Given the description of an element on the screen output the (x, y) to click on. 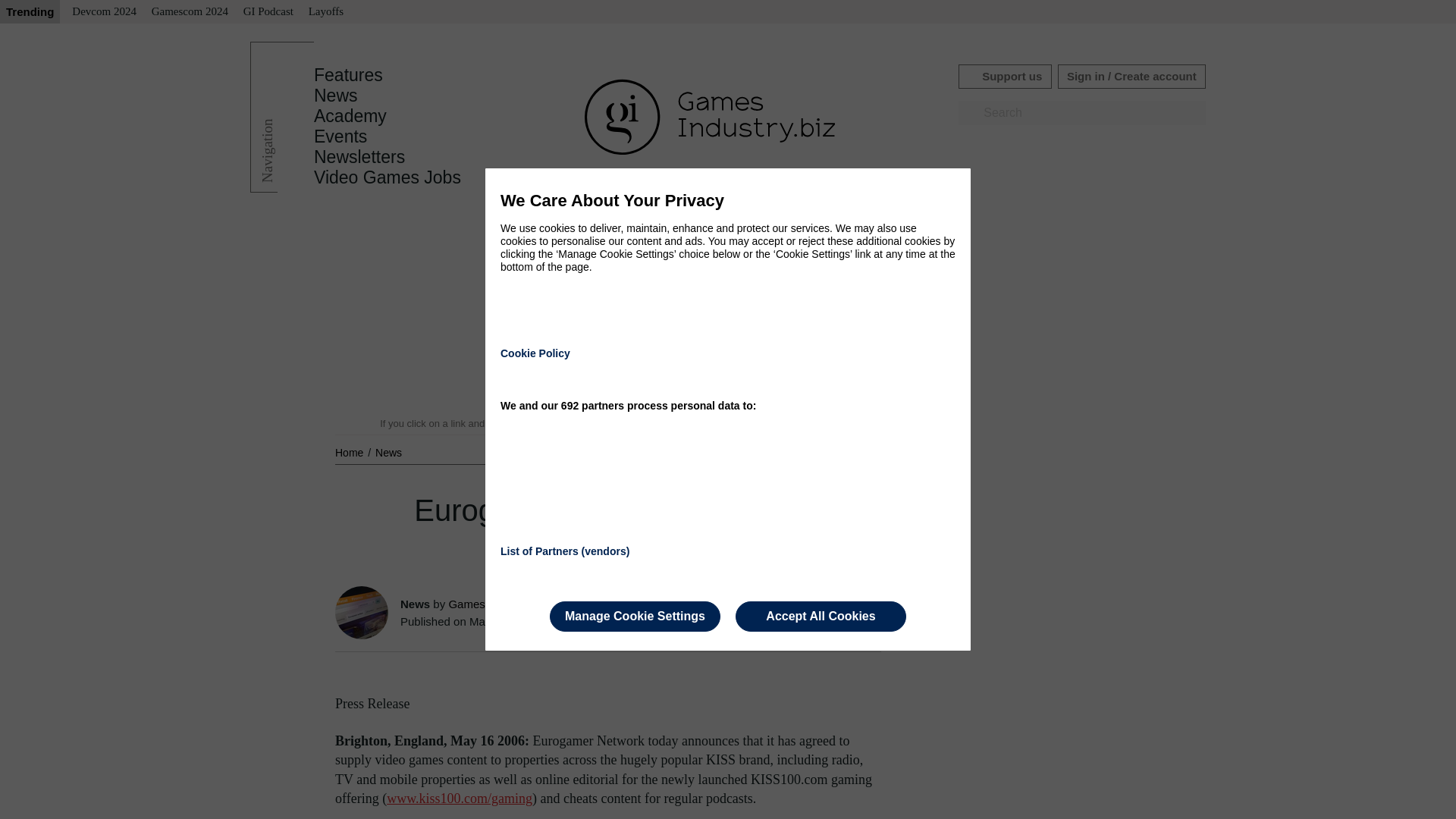
Events (340, 136)
Devcom 2024 (103, 11)
Newsletters (359, 157)
News (388, 452)
Video Games Jobs (387, 177)
Home (350, 452)
Features (348, 75)
Layoffs (325, 11)
News (336, 95)
Academy (350, 116)
